Given the description of an element on the screen output the (x, y) to click on. 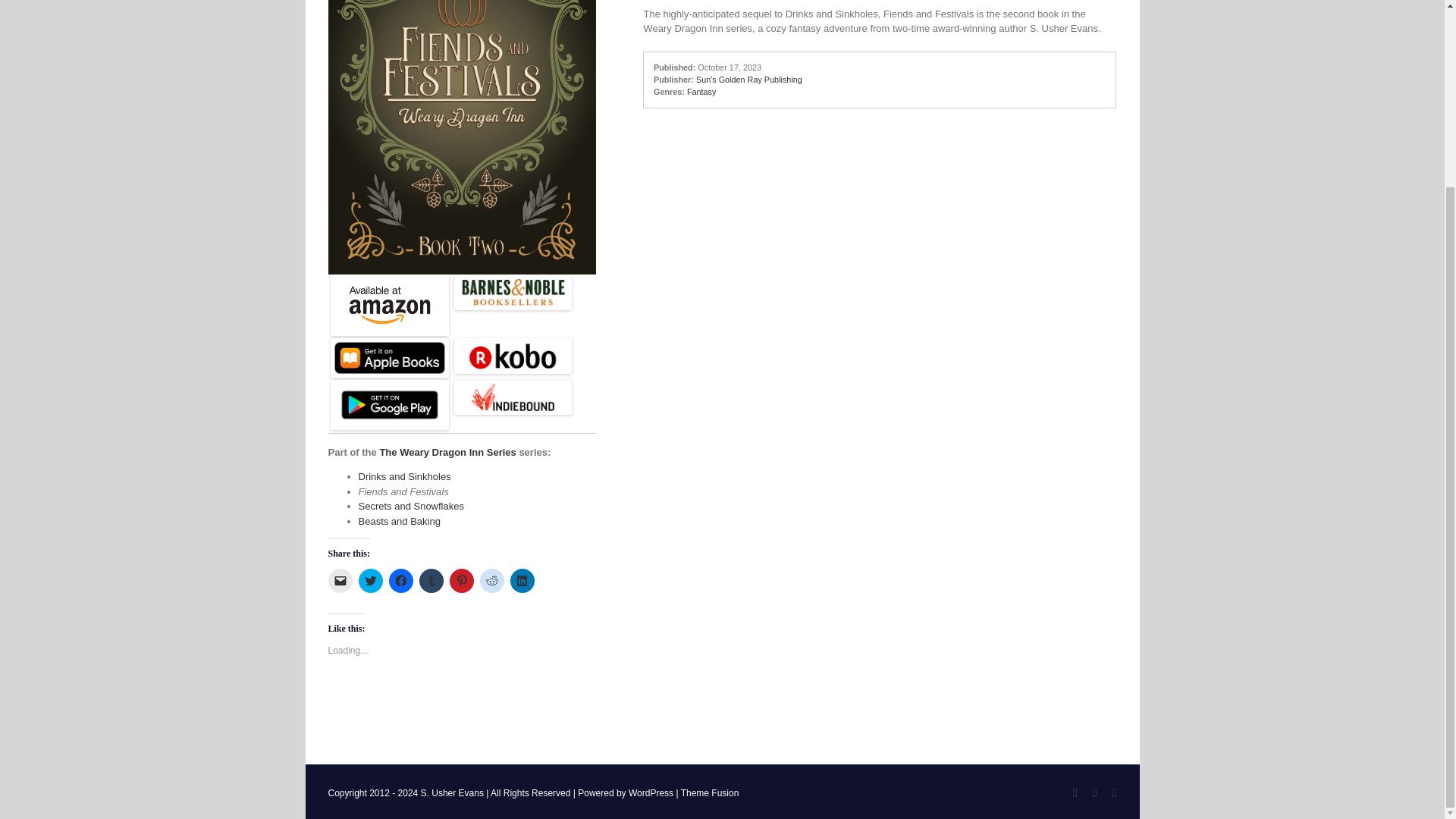
Sun's Golden Ray Publishing (748, 79)
Beasts and Baking (398, 521)
Click to share on Pinterest (460, 580)
Click to share on Reddit (491, 580)
Click to share on Tumblr (430, 580)
Drinks and Sinkholes (403, 476)
Secrets and Snowflakes (410, 505)
Click to share on LinkedIn (521, 580)
Click to share on Facebook (400, 580)
Fantasy (701, 91)
